Given the description of an element on the screen output the (x, y) to click on. 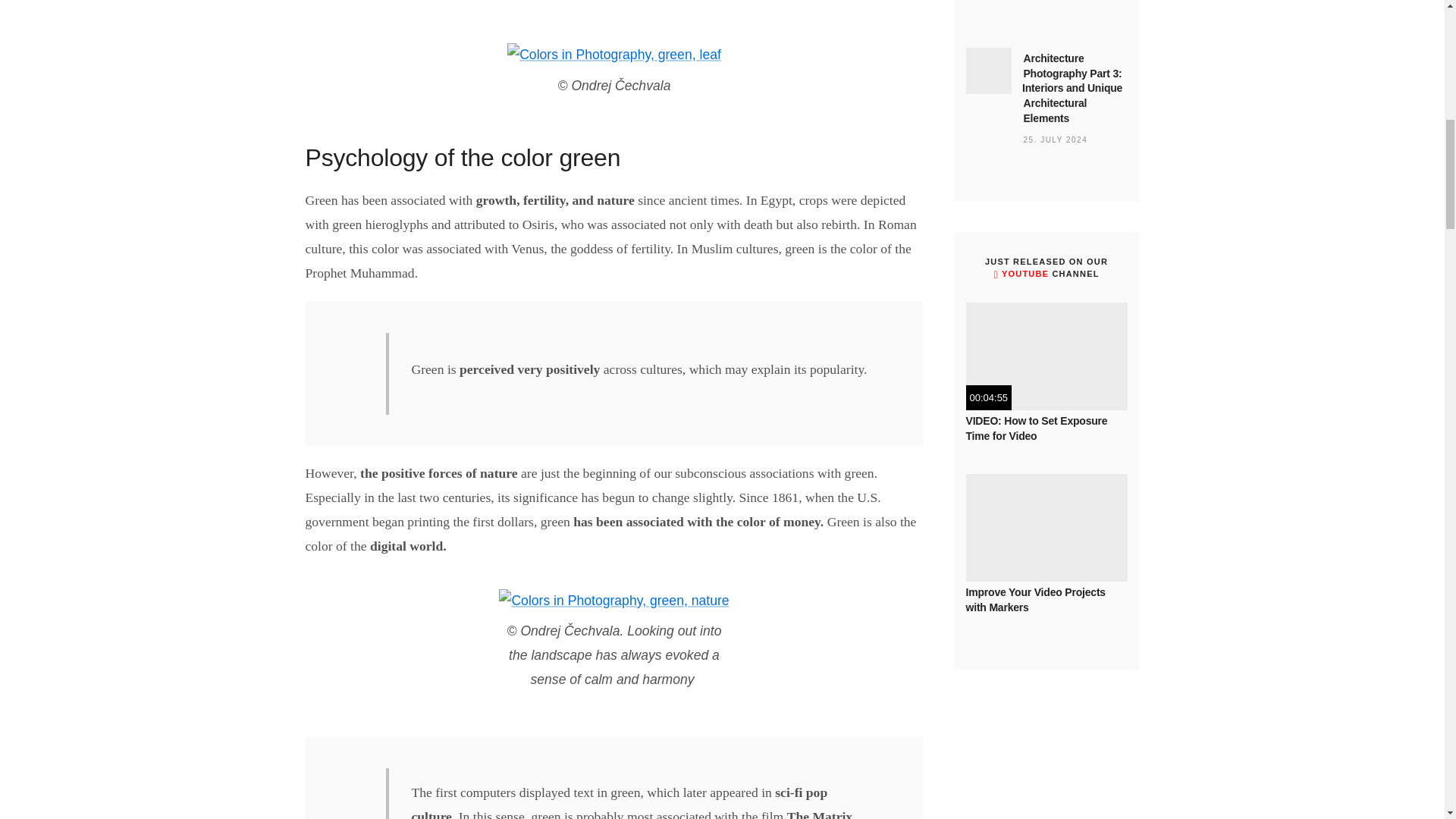
VIDEO: How to Set Exposure Time for Video (1046, 356)
Improve Your Video Projects with Markers (1046, 527)
